Given the description of an element on the screen output the (x, y) to click on. 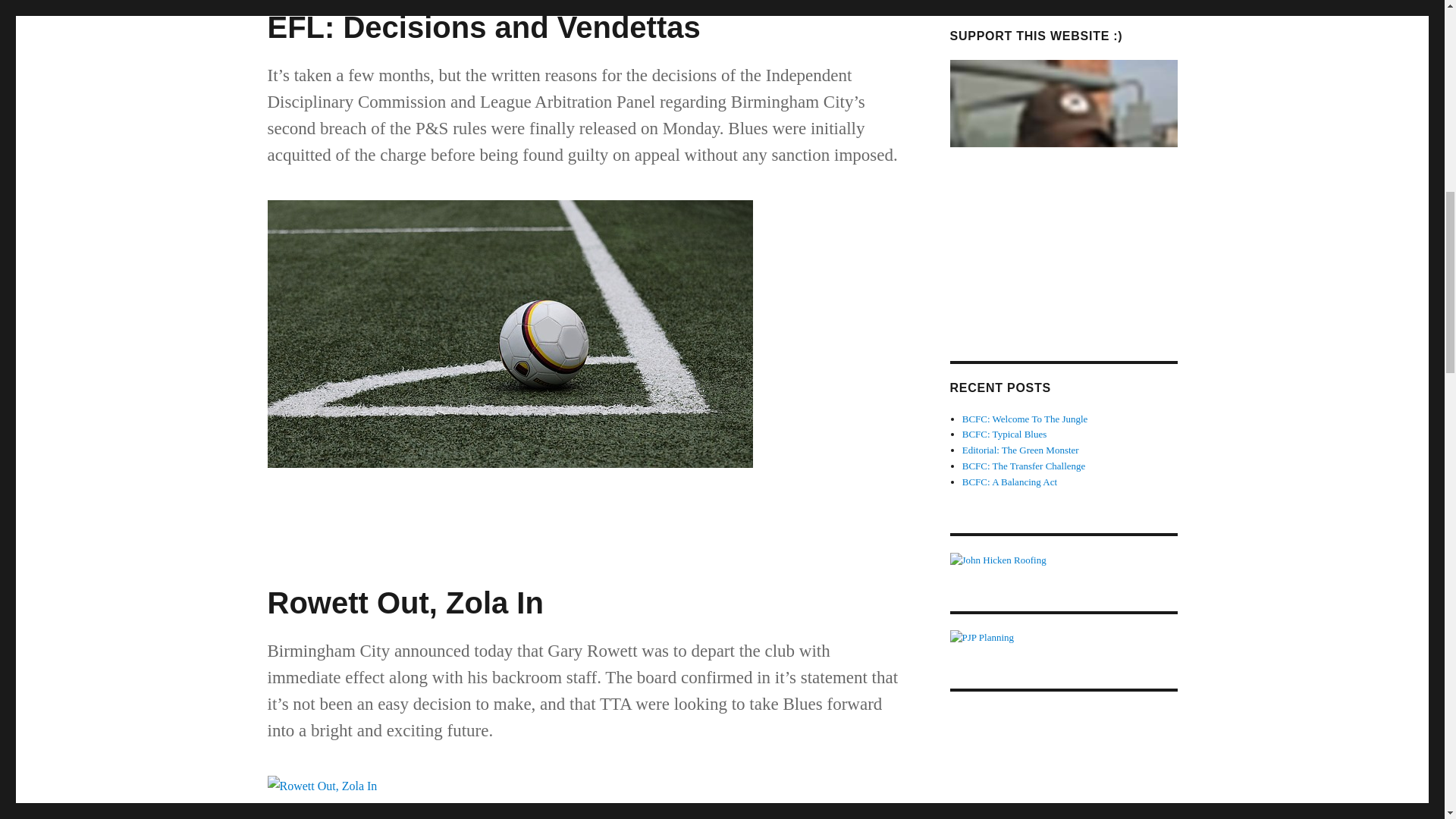
Rowett Out, Zola In (404, 602)
BCFC: A Balancing Act (1009, 481)
Editorial: The Green Monster (1020, 449)
BCFC: The Transfer Challenge (1024, 465)
BCFC: Typical Blues (1004, 433)
EFL: Decisions and Vendettas (483, 27)
BCFC: Welcome To The Jungle (1024, 418)
